Given the description of an element on the screen output the (x, y) to click on. 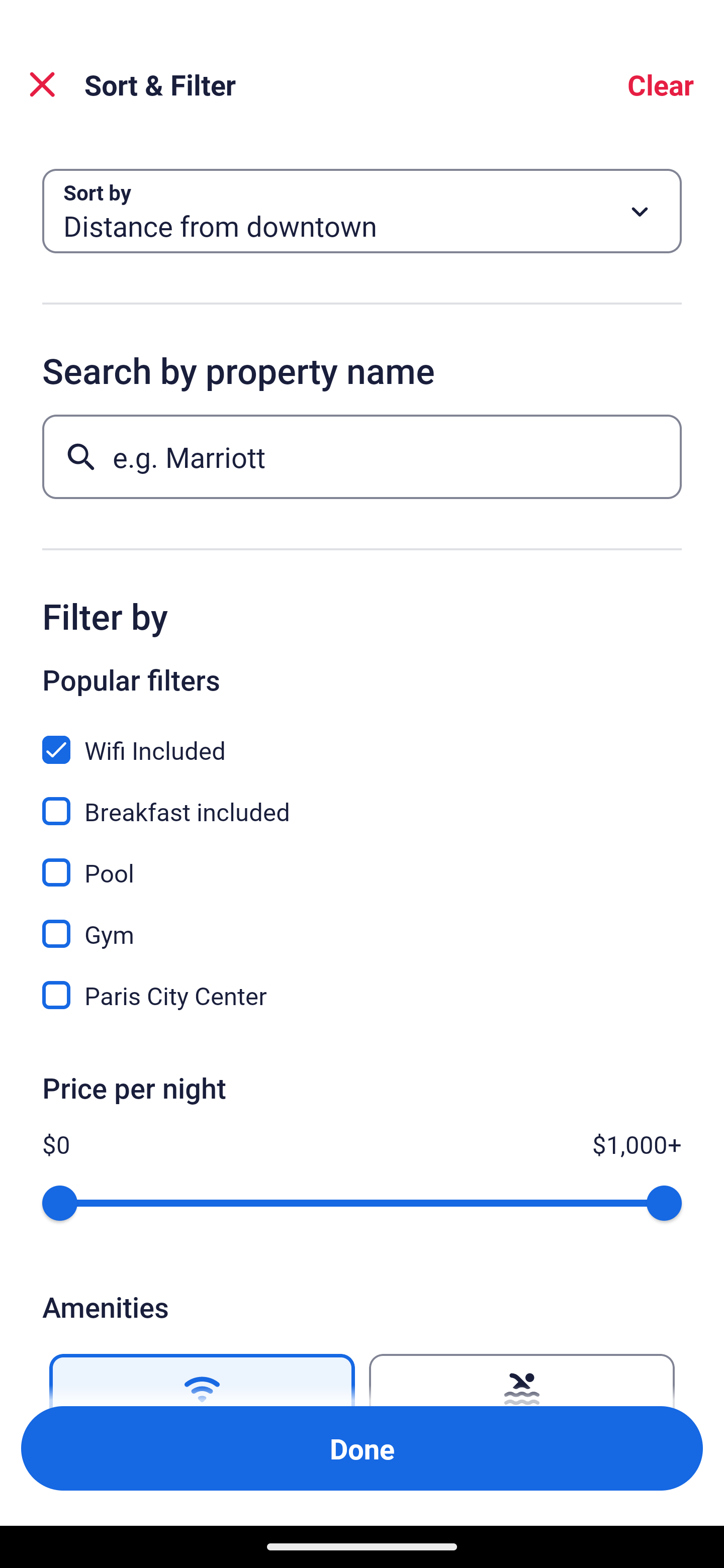
Close Sort and Filter (42, 84)
Clear (660, 84)
Sort by Button Distance from downtown (361, 211)
e.g. Marriott Button (361, 455)
Wifi Included, Wifi Included (361, 738)
Breakfast included, Breakfast included (361, 800)
Pool, Pool (361, 861)
Gym, Gym (361, 922)
Paris City Center, Paris City Center (361, 995)
Apply and close Sort and Filter Done (361, 1448)
